Given the description of an element on the screen output the (x, y) to click on. 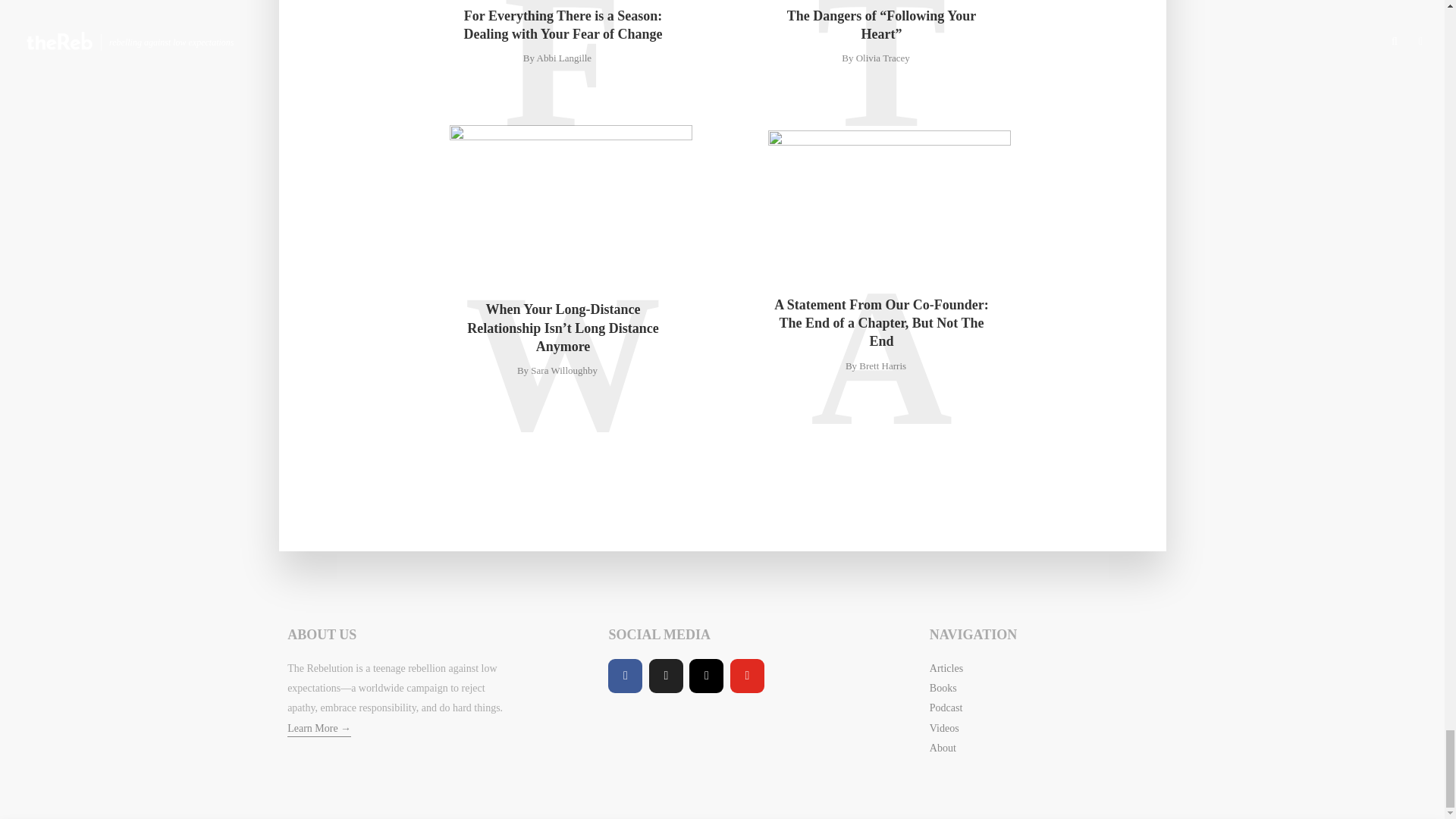
YouTube (747, 675)
Instagram (705, 675)
Facebook (625, 675)
